Given the description of an element on the screen output the (x, y) to click on. 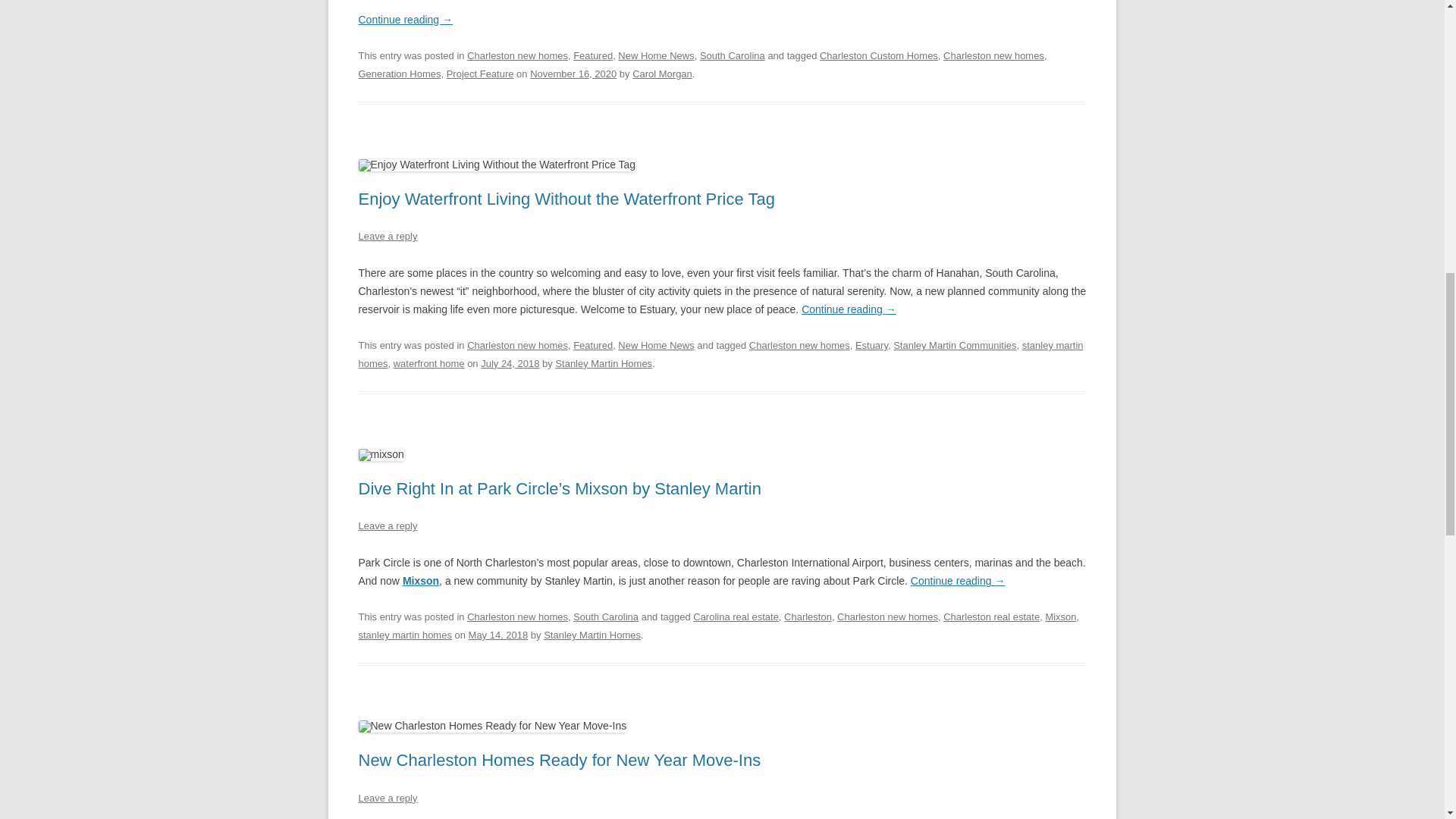
Mixson (421, 580)
waterfront home (428, 363)
Generation Homes (399, 73)
2:02 pm (509, 363)
Leave a reply (387, 525)
View all posts by Carol Morgan (662, 73)
11:04 am (572, 73)
View all posts by Stanley Martin Homes (603, 363)
November 16, 2020 (572, 73)
Stanley Martin Homes (603, 363)
